Given the description of an element on the screen output the (x, y) to click on. 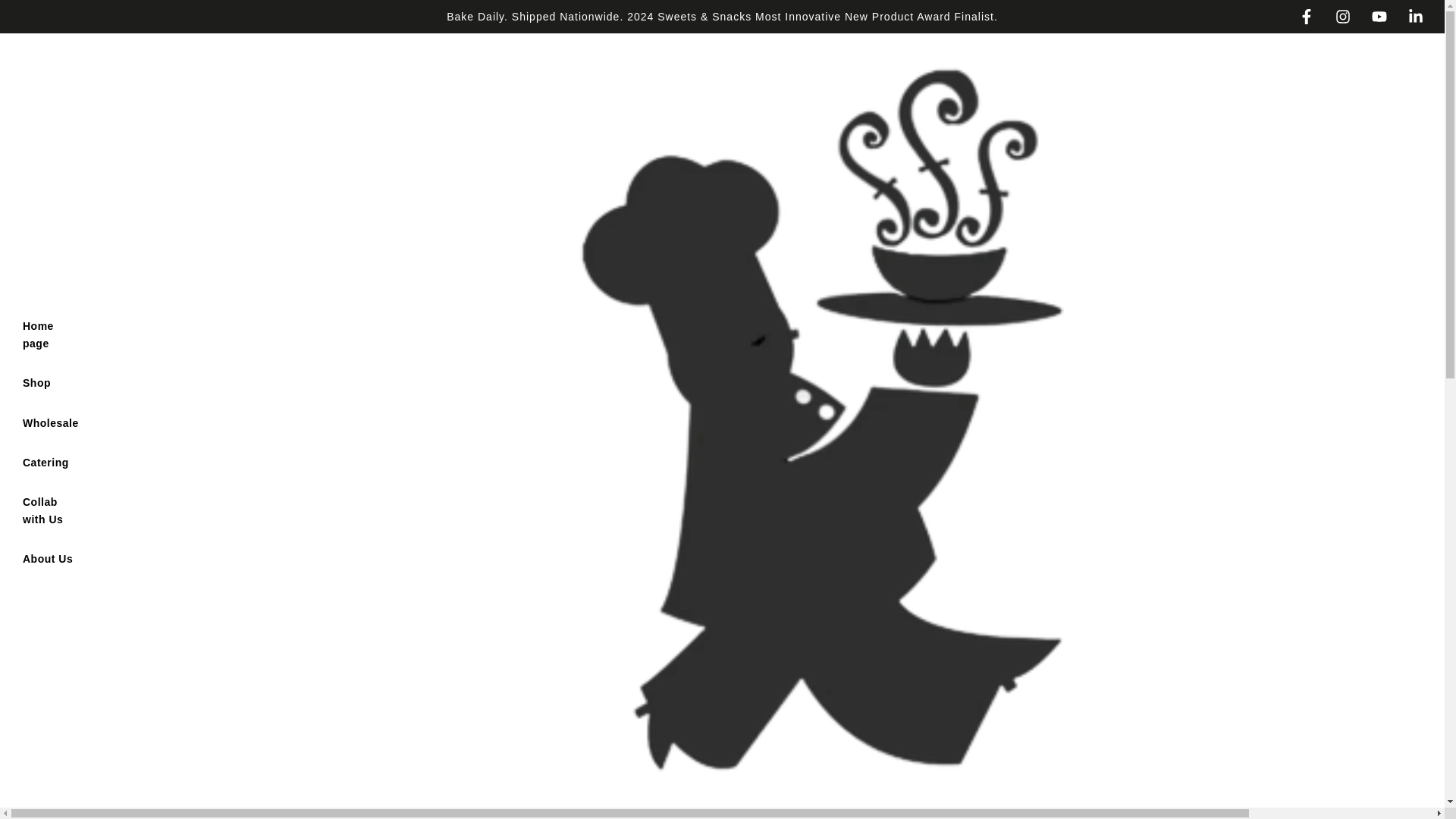
Catering (45, 462)
About Us (47, 558)
Collab with Us (50, 510)
Wholesale (50, 423)
Home page (50, 334)
Shop (36, 382)
